Given the description of an element on the screen output the (x, y) to click on. 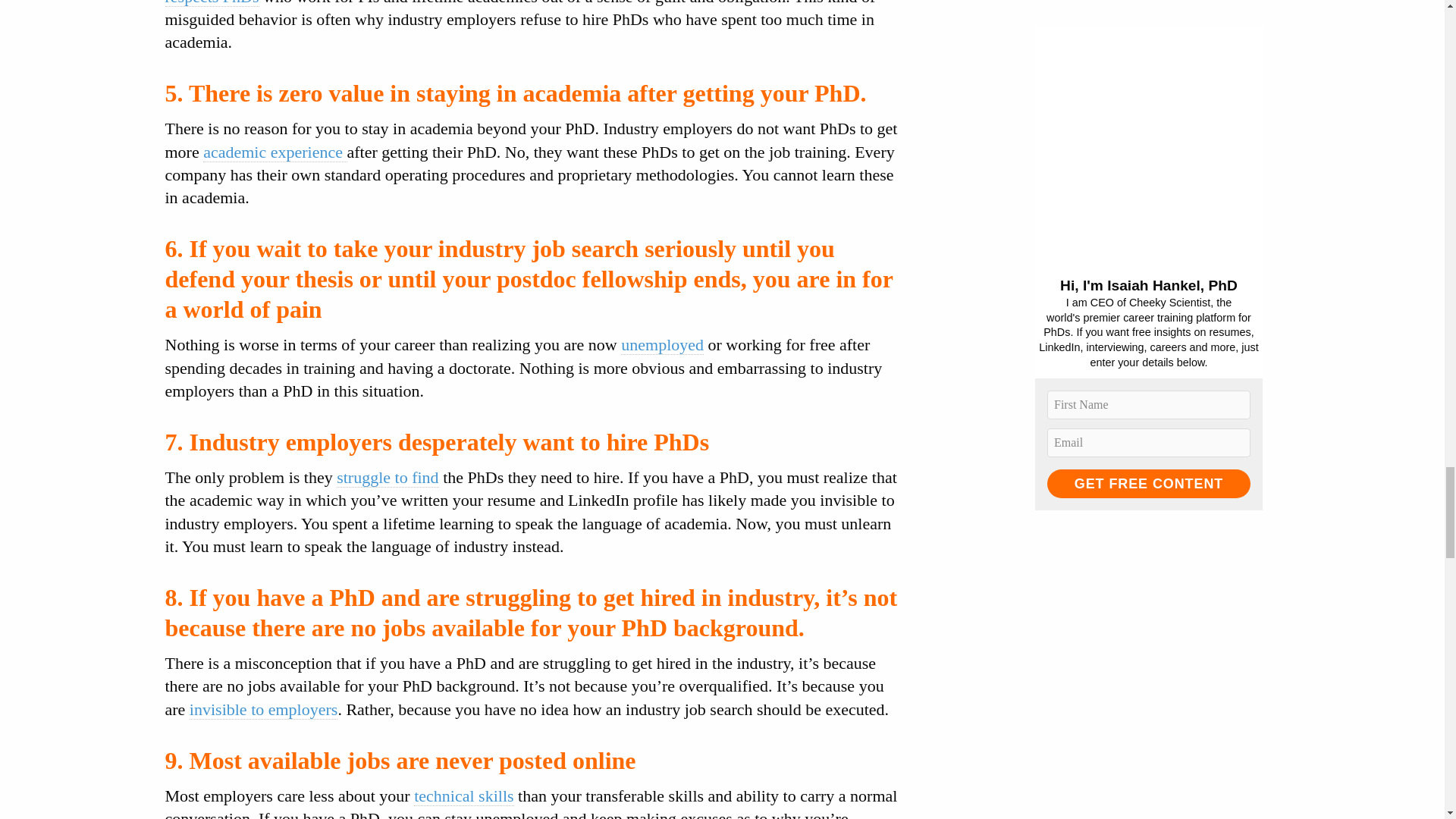
struggle to find (387, 477)
respects PhDs (212, 3)
technical skills (463, 795)
academic experience (274, 152)
unemployed (662, 344)
invisible to employers (263, 709)
